Given the description of an element on the screen output the (x, y) to click on. 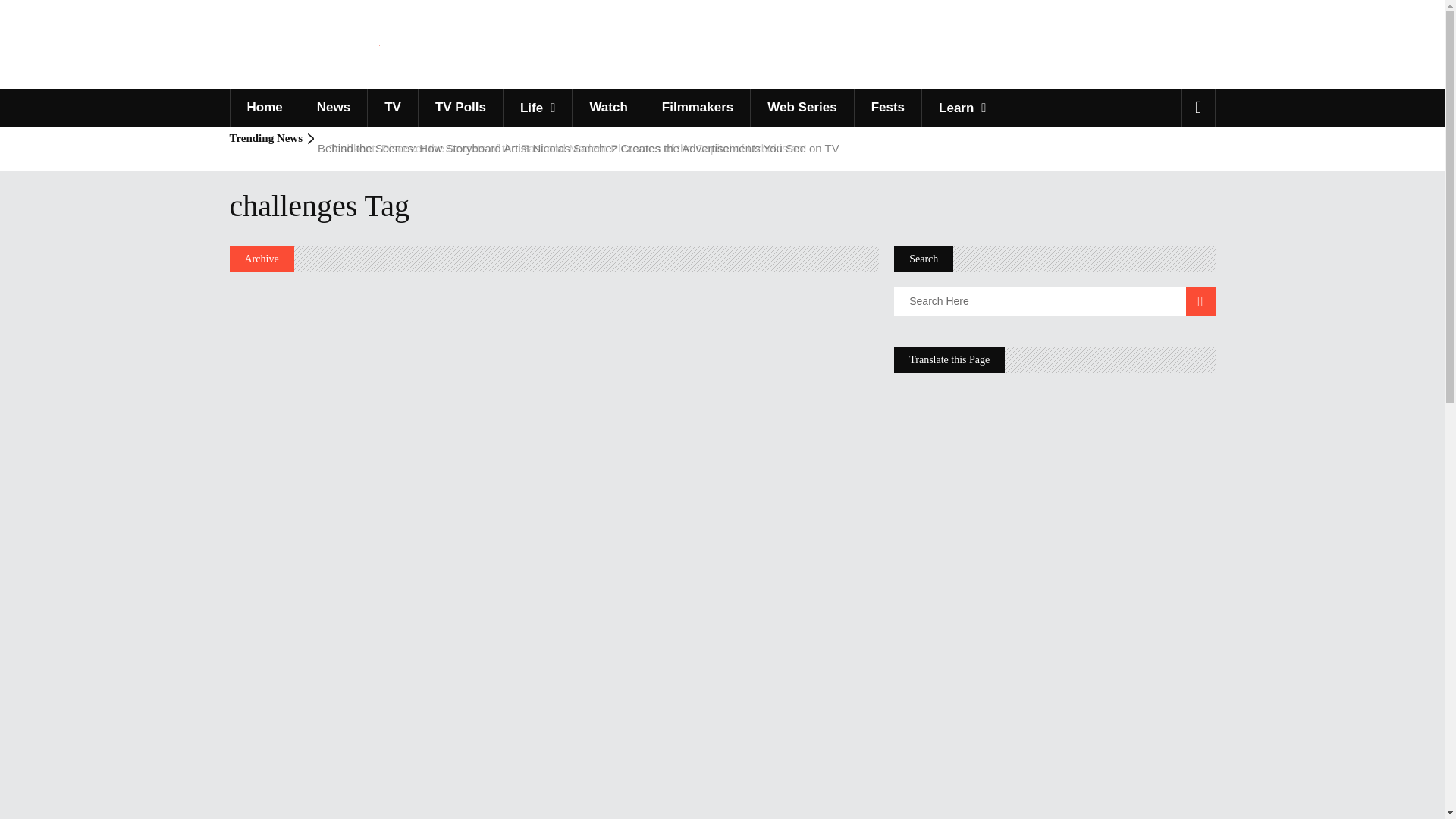
Web Series (801, 107)
TV Polls (459, 107)
Fests (887, 107)
Watch (607, 107)
Learn (962, 107)
Home (263, 107)
Filmmakers (698, 107)
TV (391, 107)
Life (537, 107)
News (332, 107)
